Given the description of an element on the screen output the (x, y) to click on. 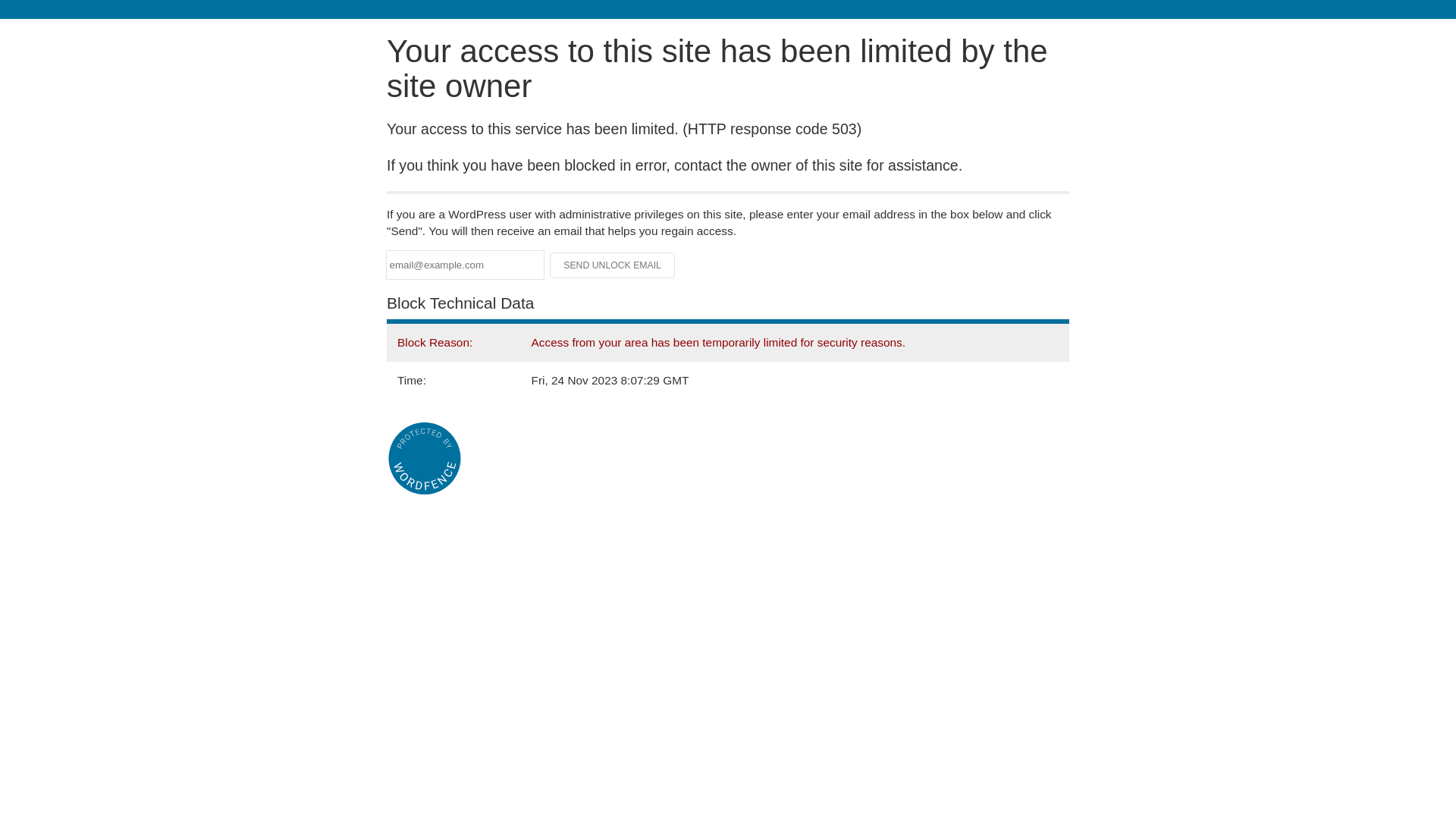
Send Unlock Email Element type: text (612, 265)
